Given the description of an element on the screen output the (x, y) to click on. 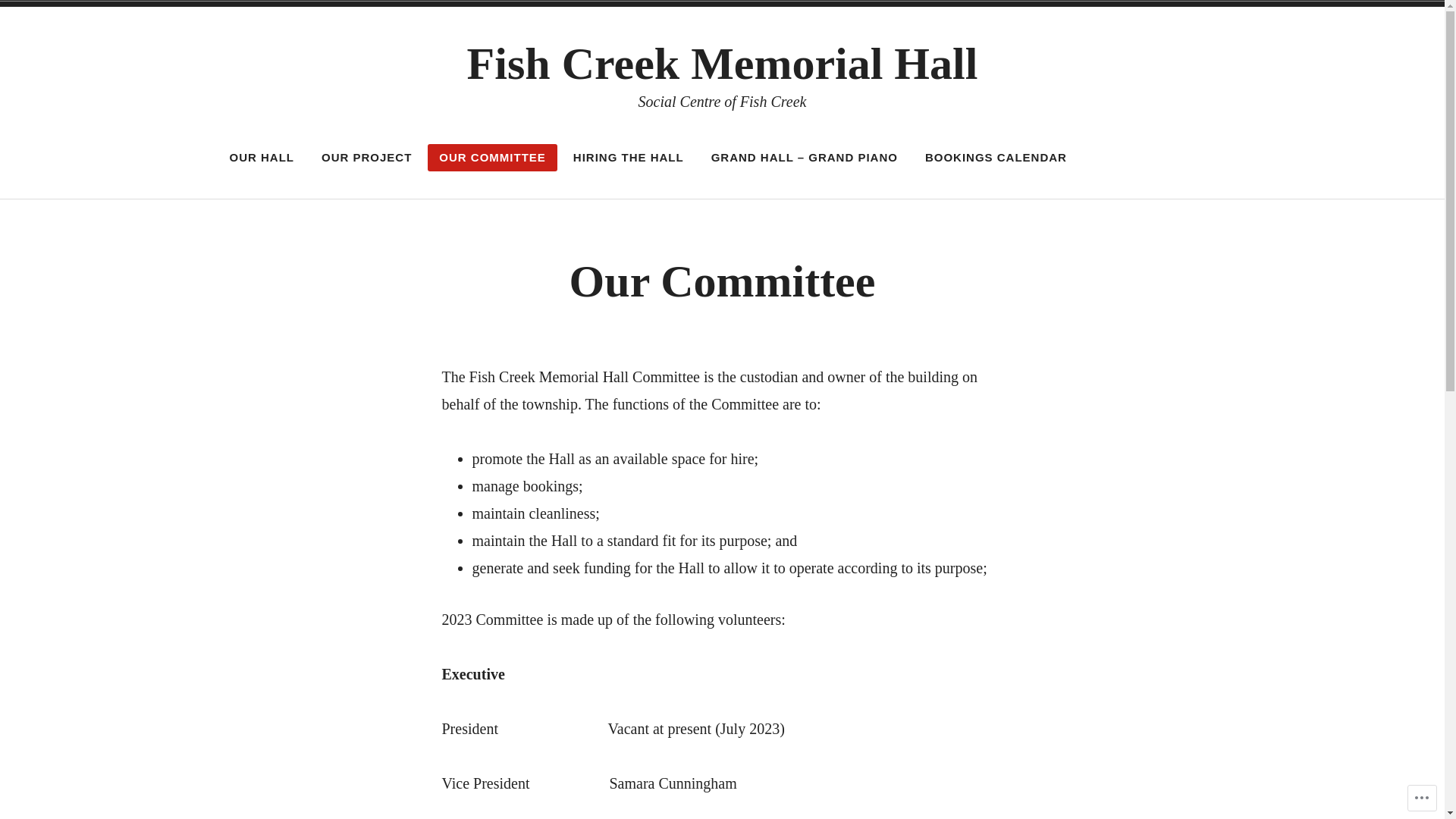
OUR PROJECT Element type: text (366, 157)
Fish Creek Memorial Hall Element type: text (722, 63)
HIRING THE HALL Element type: text (628, 157)
BOOKINGS CALENDAR Element type: text (995, 157)
OUR HALL Element type: text (262, 157)
OUR COMMITTEE Element type: text (492, 157)
